Given the description of an element on the screen output the (x, y) to click on. 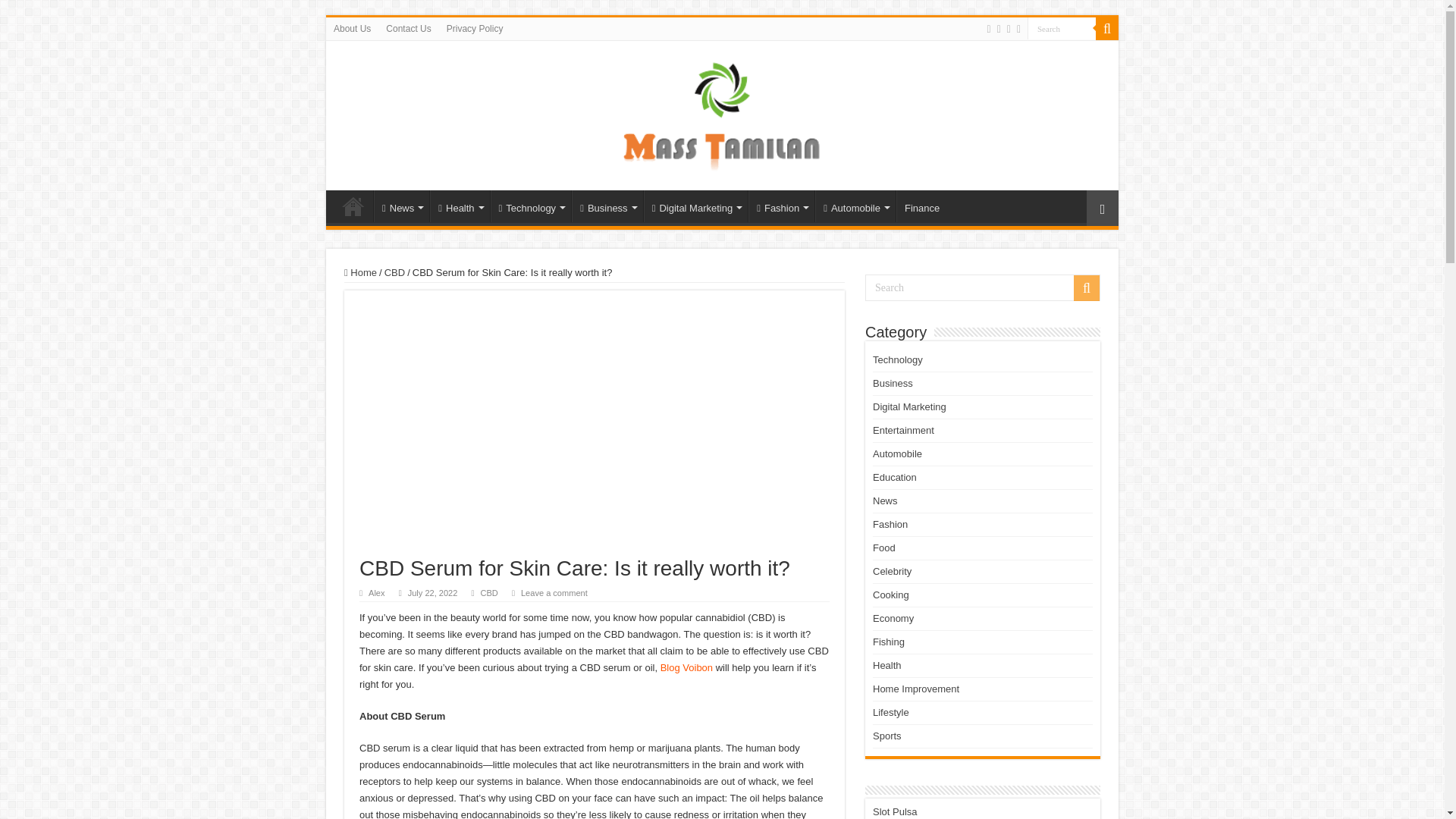
Privacy Policy (475, 28)
Search (1061, 28)
About Us (352, 28)
Search (982, 287)
Search (1061, 28)
Contact Us (408, 28)
Search (1061, 28)
Search (1107, 28)
Home (352, 205)
Health (459, 205)
